Given the description of an element on the screen output the (x, y) to click on. 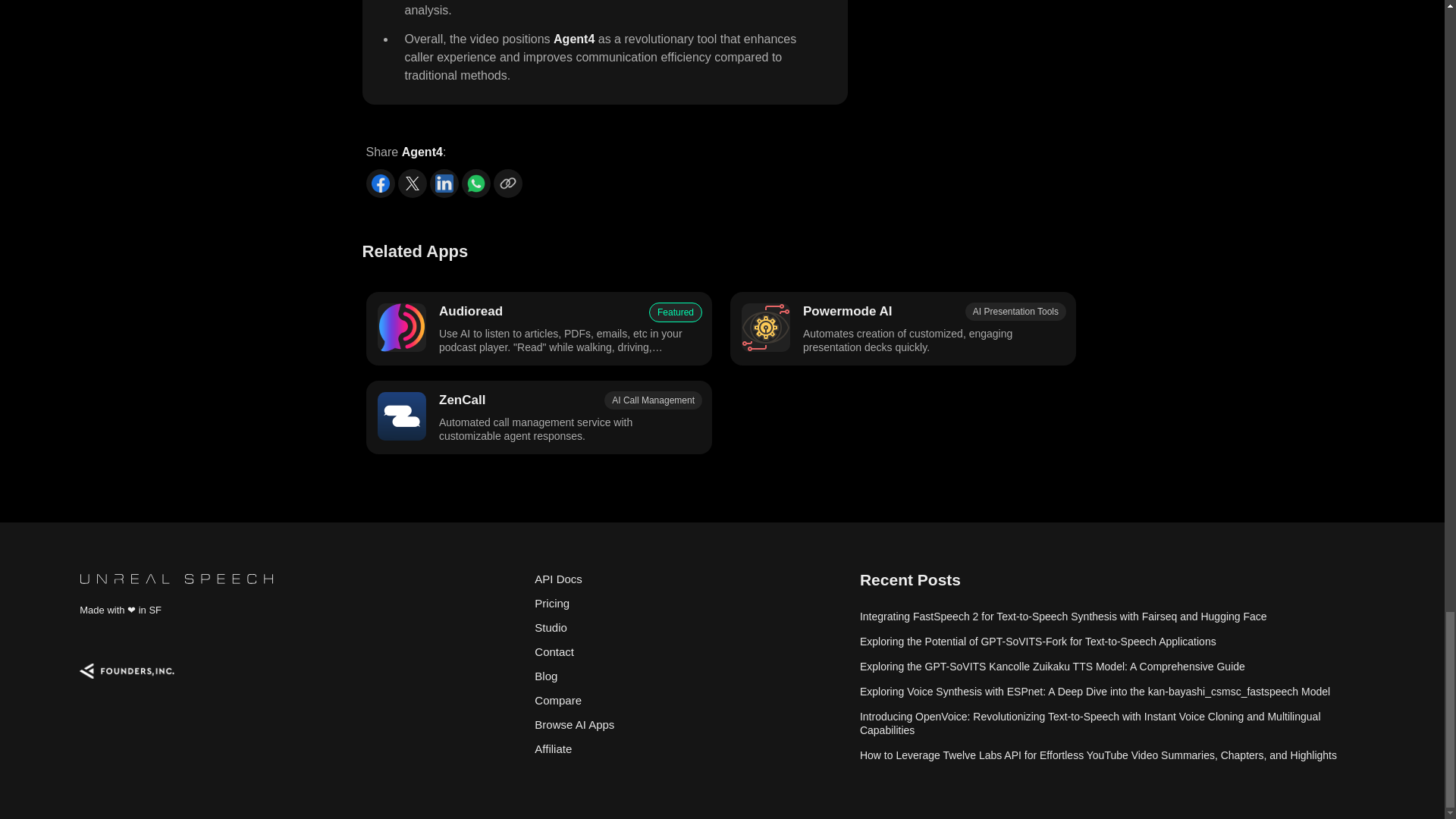
Affiliate (689, 749)
Share on WhatsApp (475, 183)
Contact (689, 651)
Blog (689, 676)
Pricing (689, 603)
Browse AI Apps (689, 724)
